Given the description of an element on the screen output the (x, y) to click on. 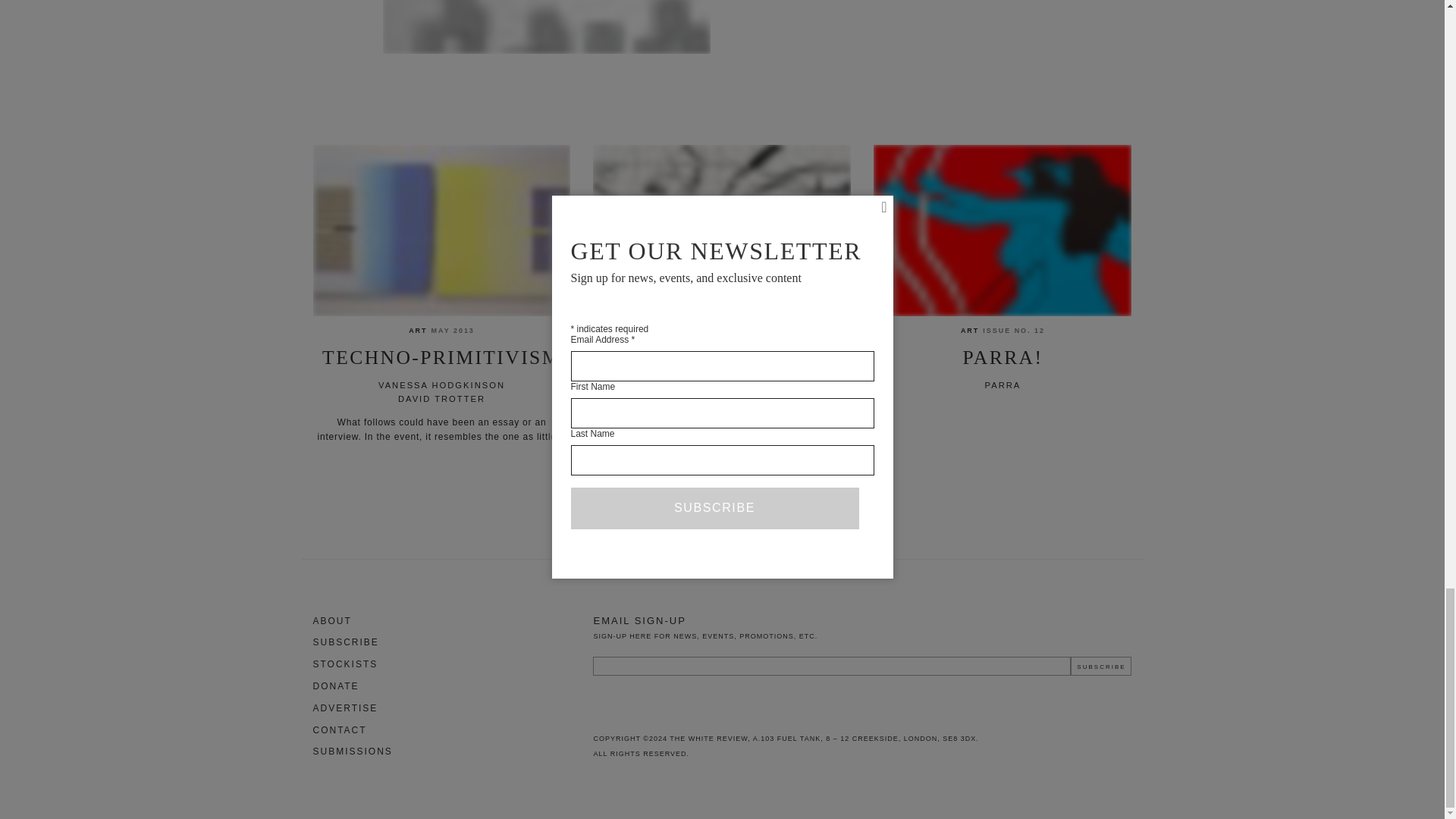
Subscribe (1100, 665)
